Given the description of an element on the screen output the (x, y) to click on. 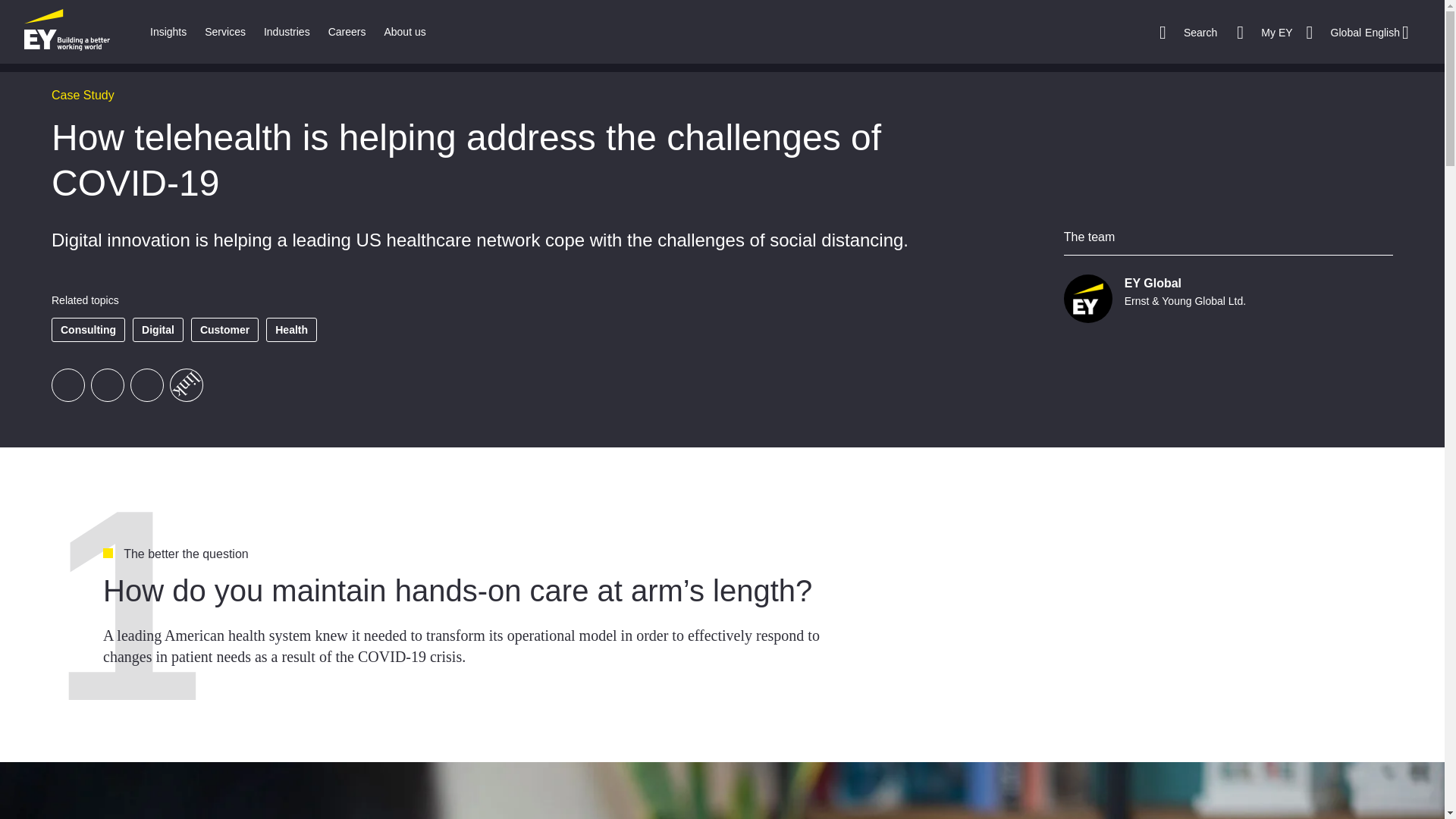
Open search (1188, 32)
EY Logo (67, 32)
Facebook (67, 385)
Copy (179, 377)
Open country language switcher (1362, 32)
My EY (1264, 32)
EY Logo (67, 32)
Twitter (106, 385)
LinkedIn (147, 385)
